Given the description of an element on the screen output the (x, y) to click on. 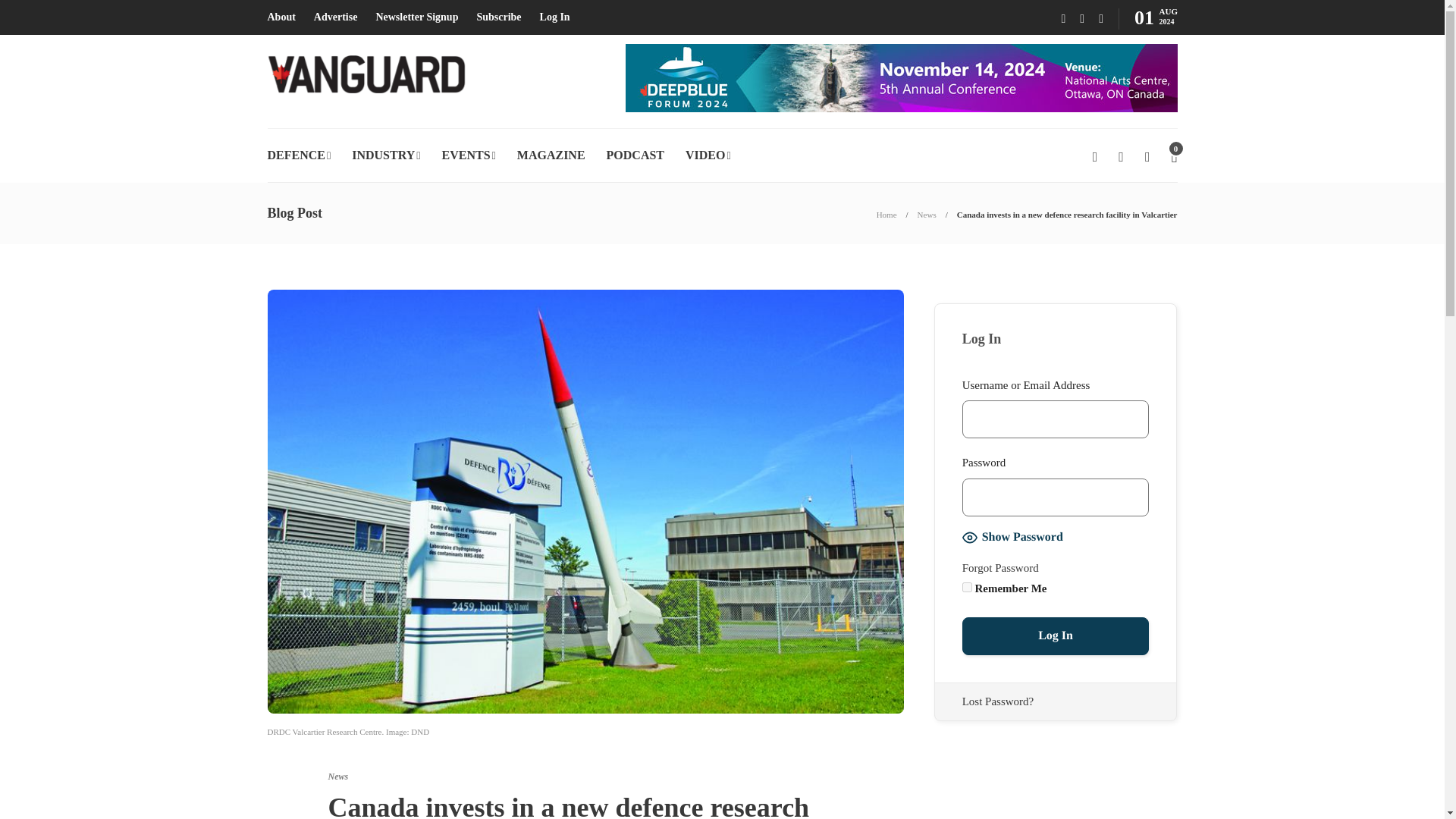
forever (967, 587)
Home (886, 214)
DEFENCE (298, 154)
Advertise (336, 17)
About (280, 17)
Subscribe (498, 17)
Log In (1056, 636)
Log In (555, 17)
Newsletter Signup (416, 17)
